Given the description of an element on the screen output the (x, y) to click on. 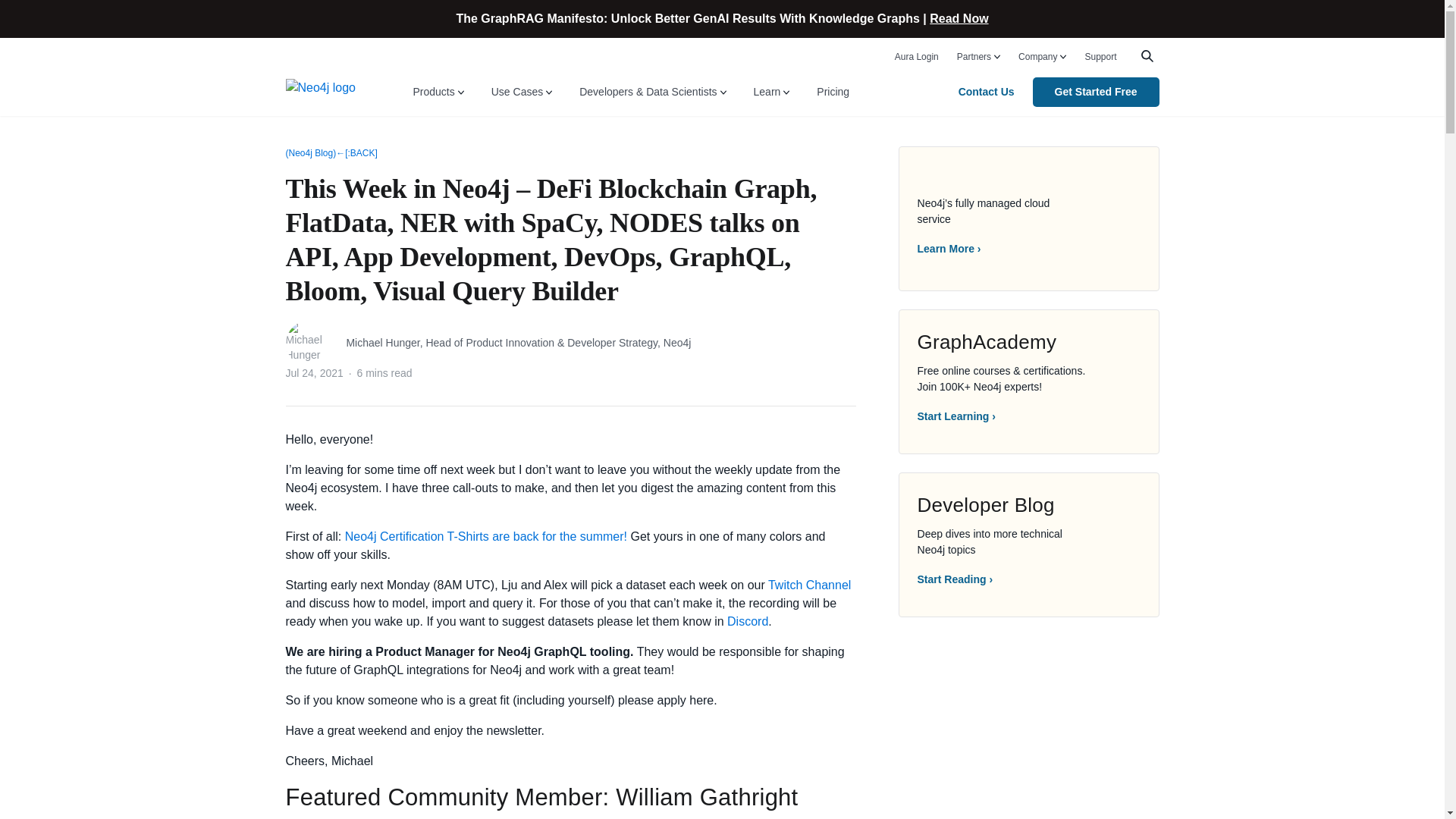
Read Now (959, 18)
